Given the description of an element on the screen output the (x, y) to click on. 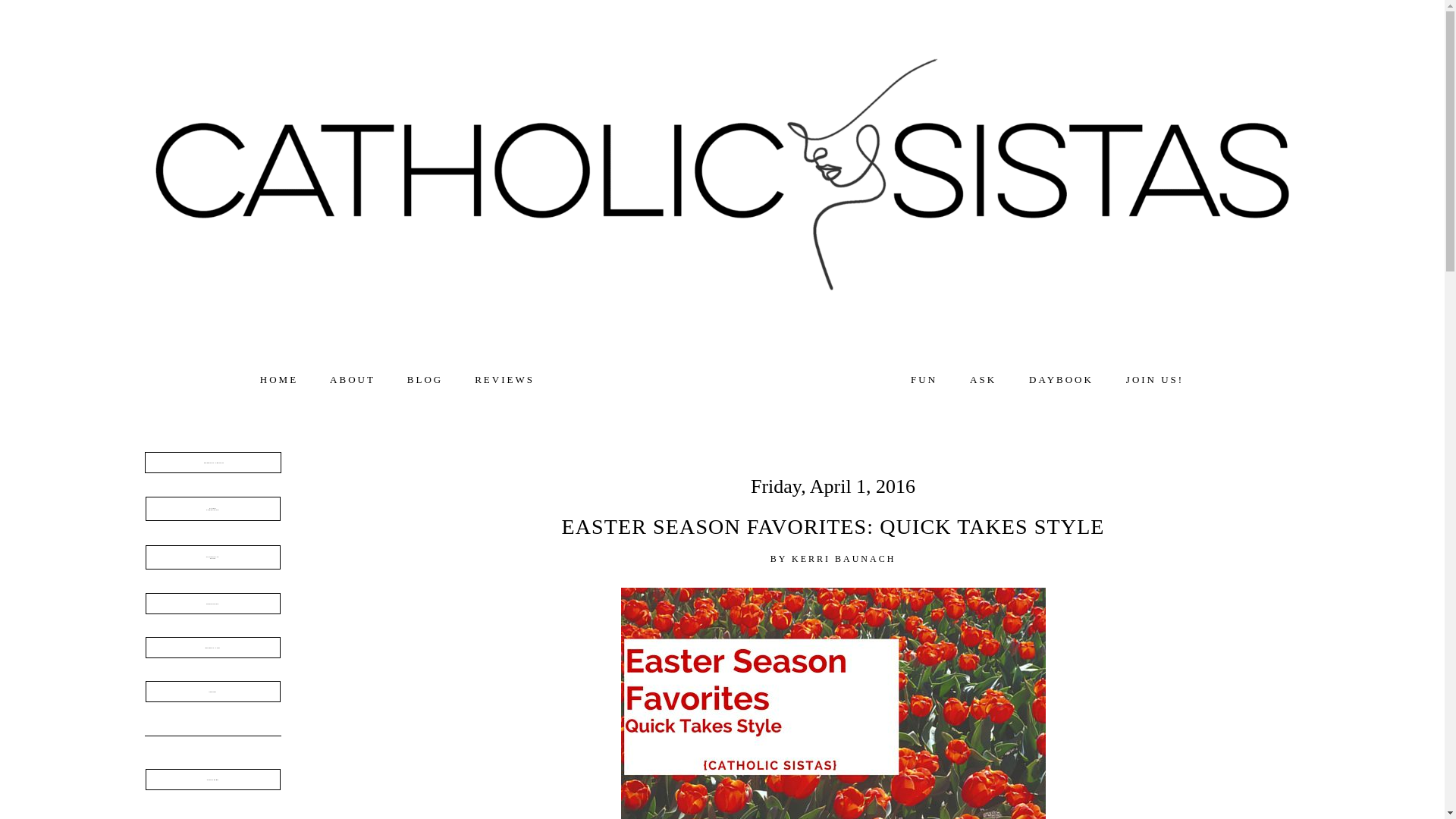
ABOUT (352, 378)
RESPECT LIFE (212, 647)
RESOURCES (212, 603)
SUBSCRIBE (212, 779)
HOME (279, 378)
BLOG (424, 378)
JOIN US! (1154, 378)
DOMESTIC CHURCH (212, 462)
DAYBOOK (1061, 378)
REVIEWS (212, 508)
FUN (504, 378)
ASK (924, 378)
KERRI BAUNACH (982, 378)
